Given the description of an element on the screen output the (x, y) to click on. 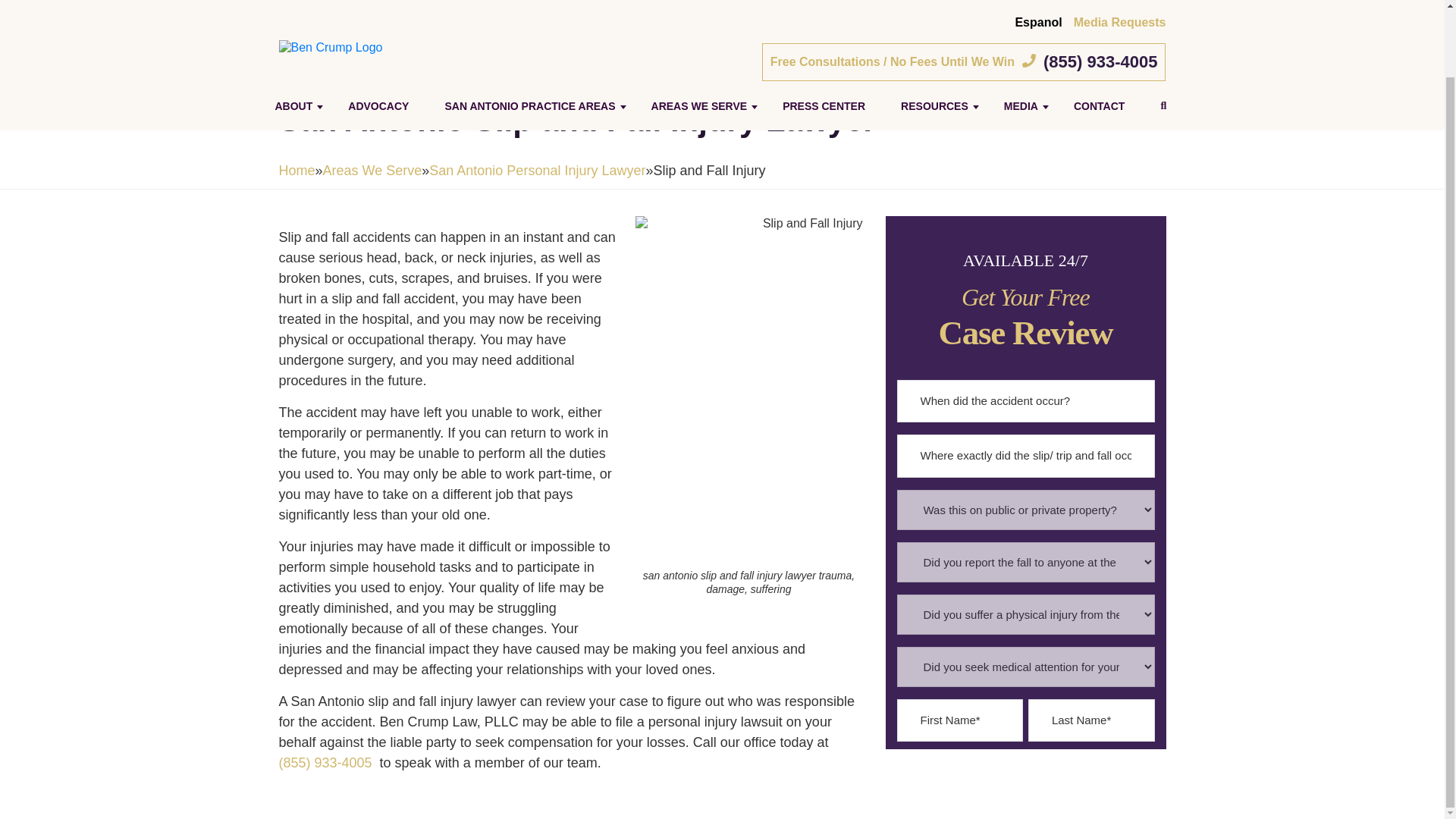
AREAS WE SERVE (699, 31)
MEDIA (1020, 31)
ABOUT (293, 31)
RESOURCES (934, 31)
PRESS CENTER (823, 31)
SAN ANTONIO PRACTICE AREAS (529, 31)
ADVOCACY (378, 31)
